Given the description of an element on the screen output the (x, y) to click on. 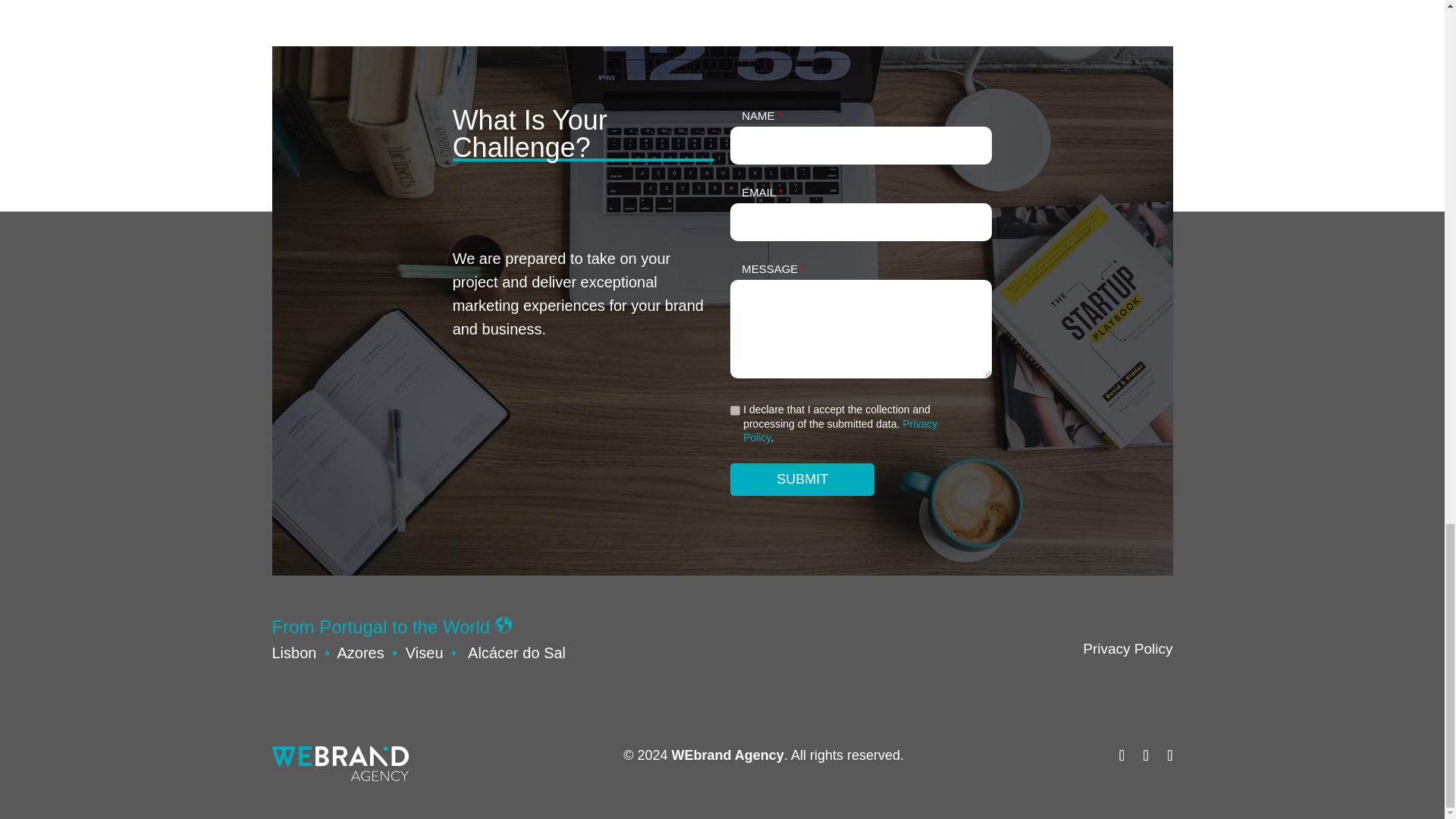
WEbrand Agency (727, 754)
Submit (802, 479)
Submit (802, 479)
Privacy Policy (1127, 648)
Privacy Policy (839, 430)
1 (734, 410)
